Given the description of an element on the screen output the (x, y) to click on. 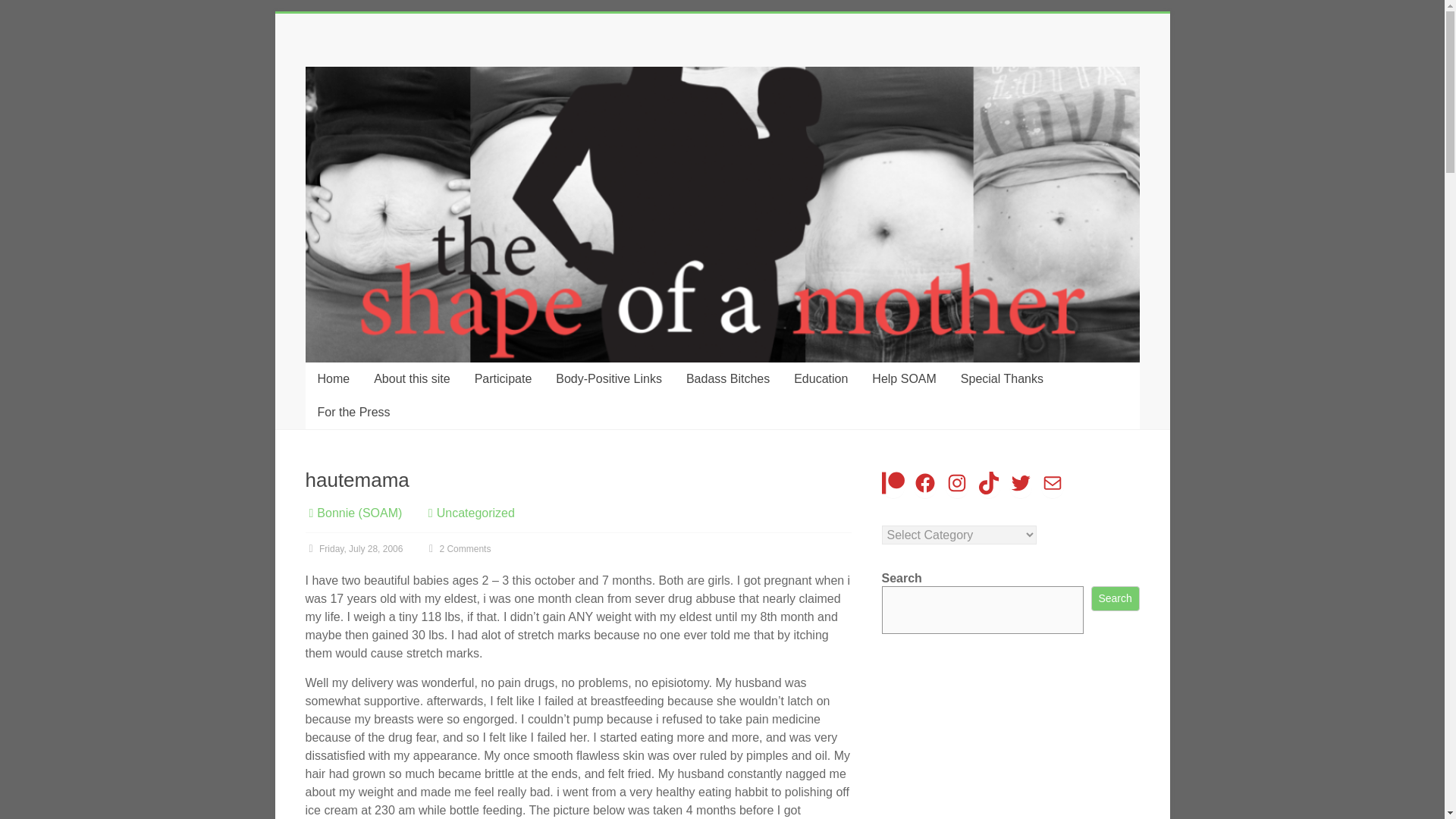
The Shape of a Mother (347, 113)
Friday, July 28, 2006 (353, 548)
Badass Bitches (727, 378)
For the Press (352, 412)
Help SOAM (903, 378)
Education (820, 378)
Uncategorized (475, 512)
Participate (503, 378)
2 Comments (457, 548)
The Shape of a Mother (347, 113)
Special Thanks (1002, 378)
Home (332, 378)
Body-Positive Links (608, 378)
8:04 pm (353, 548)
